Given the description of an element on the screen output the (x, y) to click on. 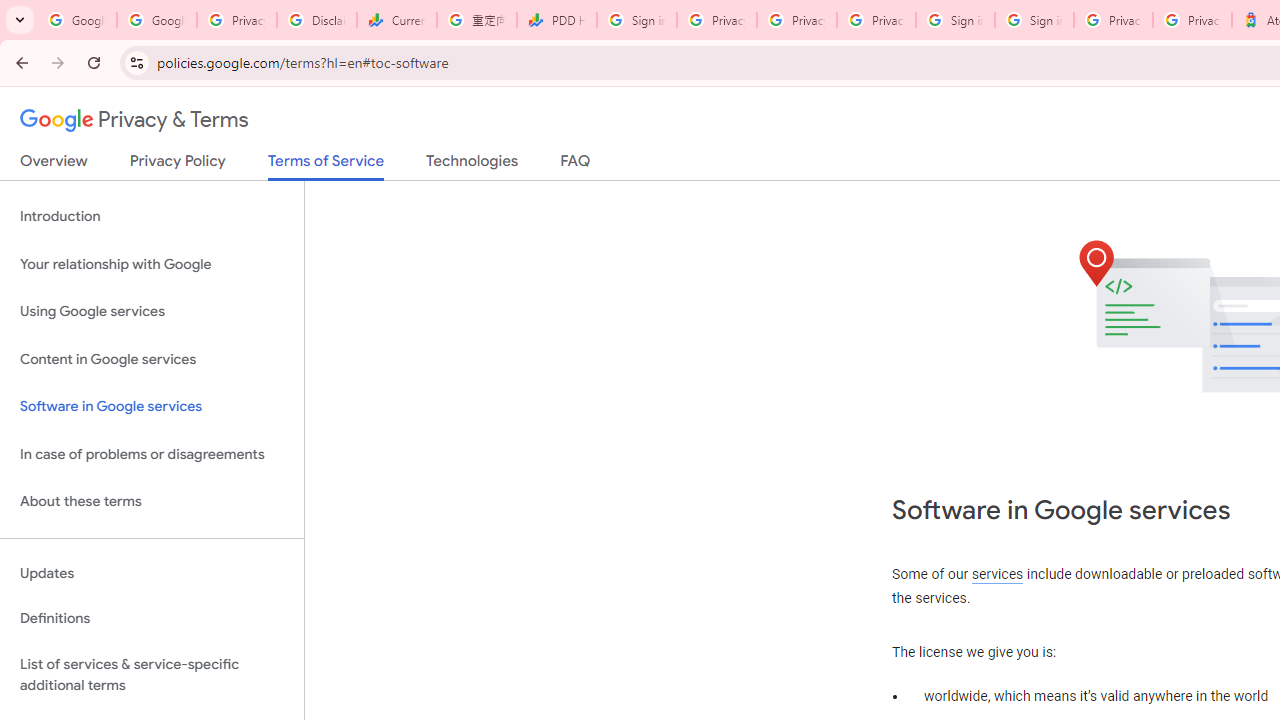
Definitions (152, 619)
PDD Holdings Inc - ADR (PDD) Price & News - Google Finance (556, 20)
Using Google services (152, 312)
services (997, 574)
